Given the description of an element on the screen output the (x, y) to click on. 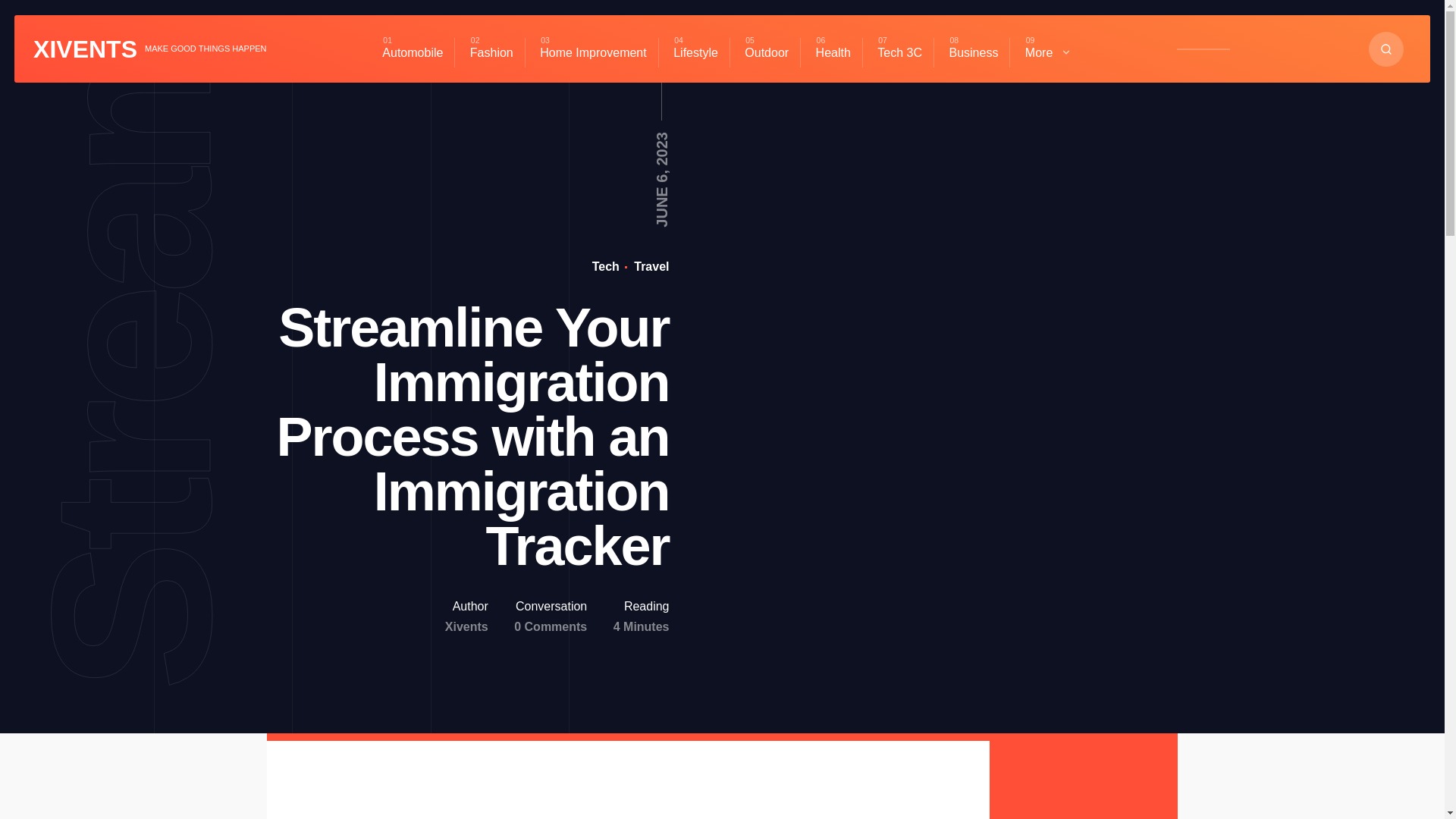
Business (973, 52)
Health (833, 52)
0 Comments (549, 626)
Automobile (412, 52)
More (1048, 52)
Tech (606, 266)
Lifestyle (695, 52)
Fashion (491, 52)
Xivents (466, 626)
Tech 3C (899, 52)
Home Improvement (593, 52)
Travel (649, 266)
Outdoor (766, 52)
XIVENTS (84, 49)
